Given the description of an element on the screen output the (x, y) to click on. 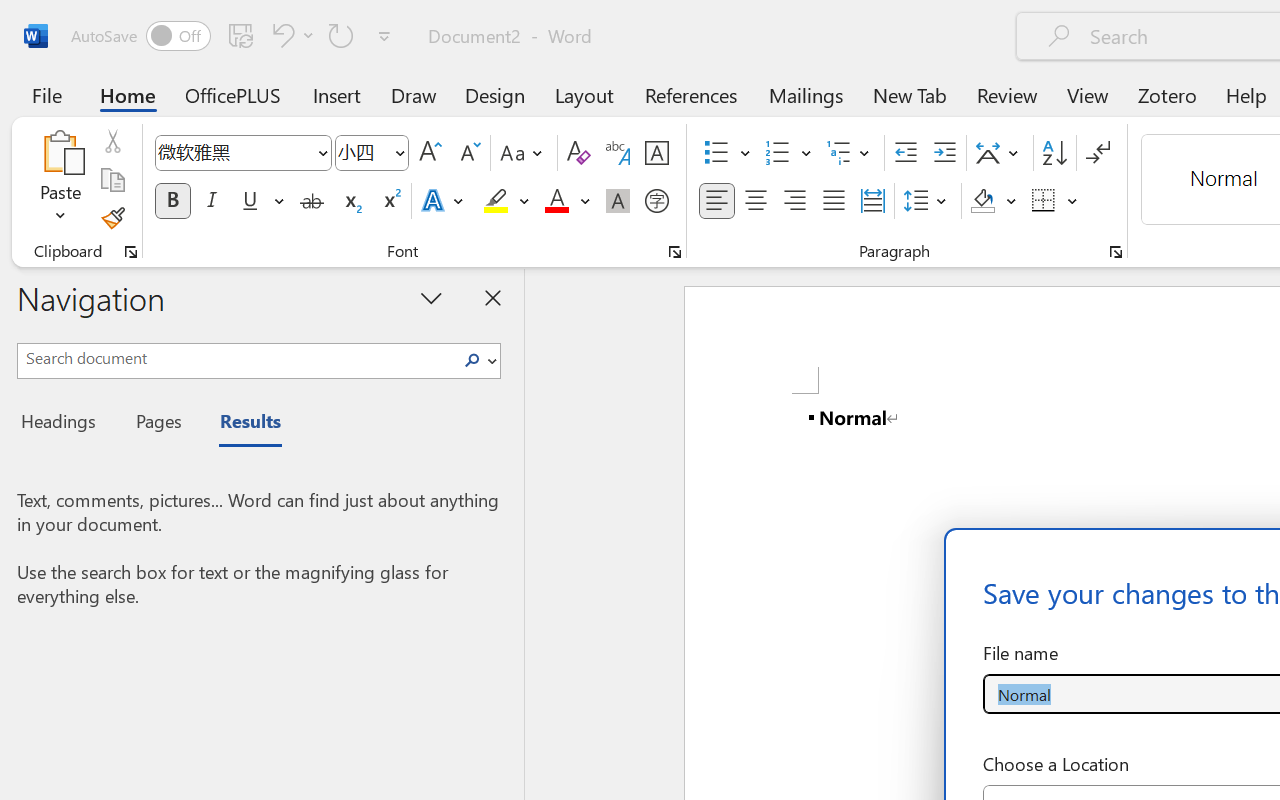
Text Highlight Color (506, 201)
Decrease Indent (906, 153)
Copy (112, 179)
Strikethrough (312, 201)
Multilevel List (850, 153)
Character Border (656, 153)
Office Clipboard... (131, 252)
Underline (261, 201)
Search document (236, 358)
Font Color (567, 201)
